Given the description of an element on the screen output the (x, y) to click on. 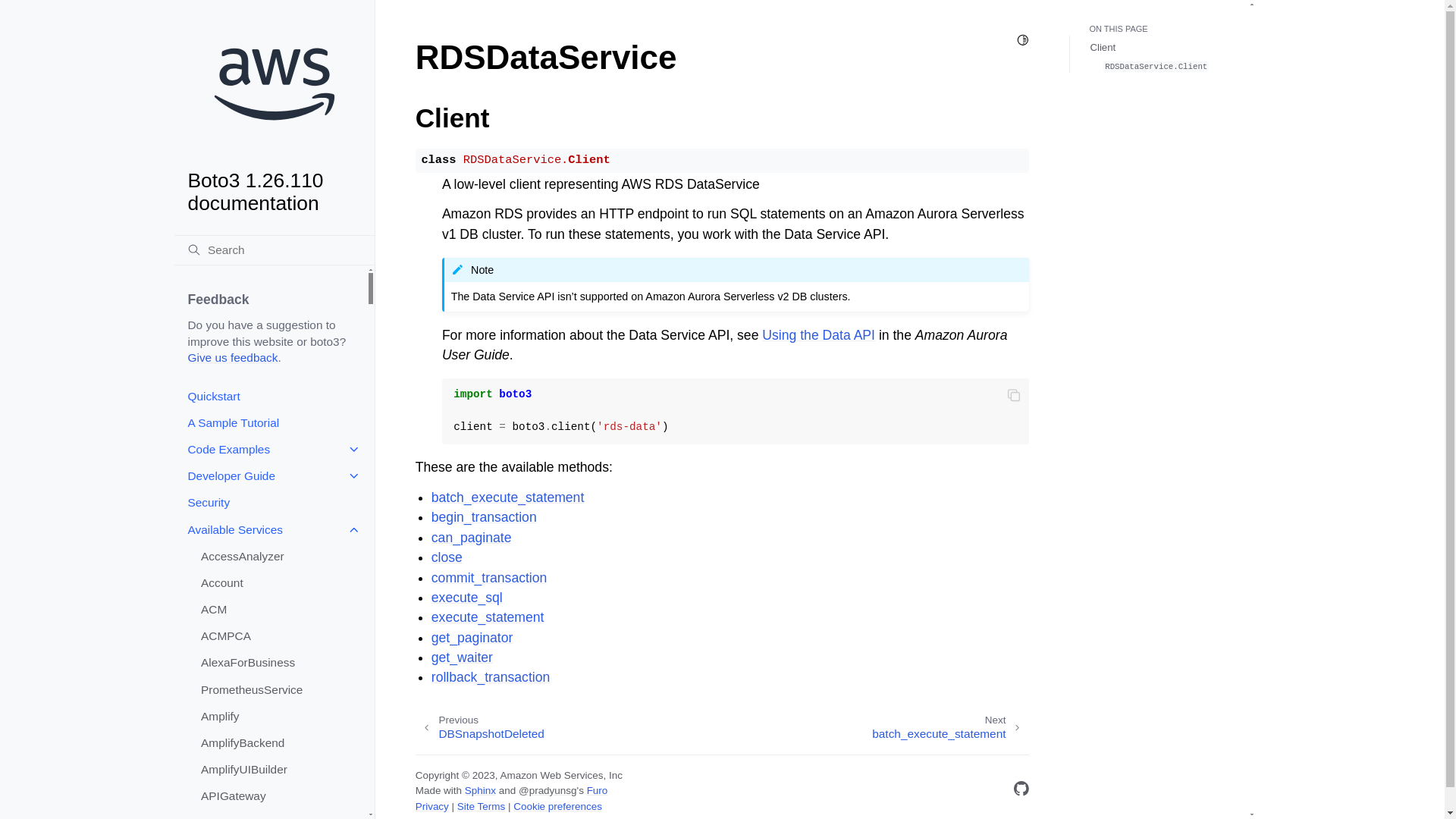
Code Examples (270, 448)
Give us feedback (232, 357)
Quickstart (270, 396)
A Sample Tutorial (270, 422)
